Given the description of an element on the screen output the (x, y) to click on. 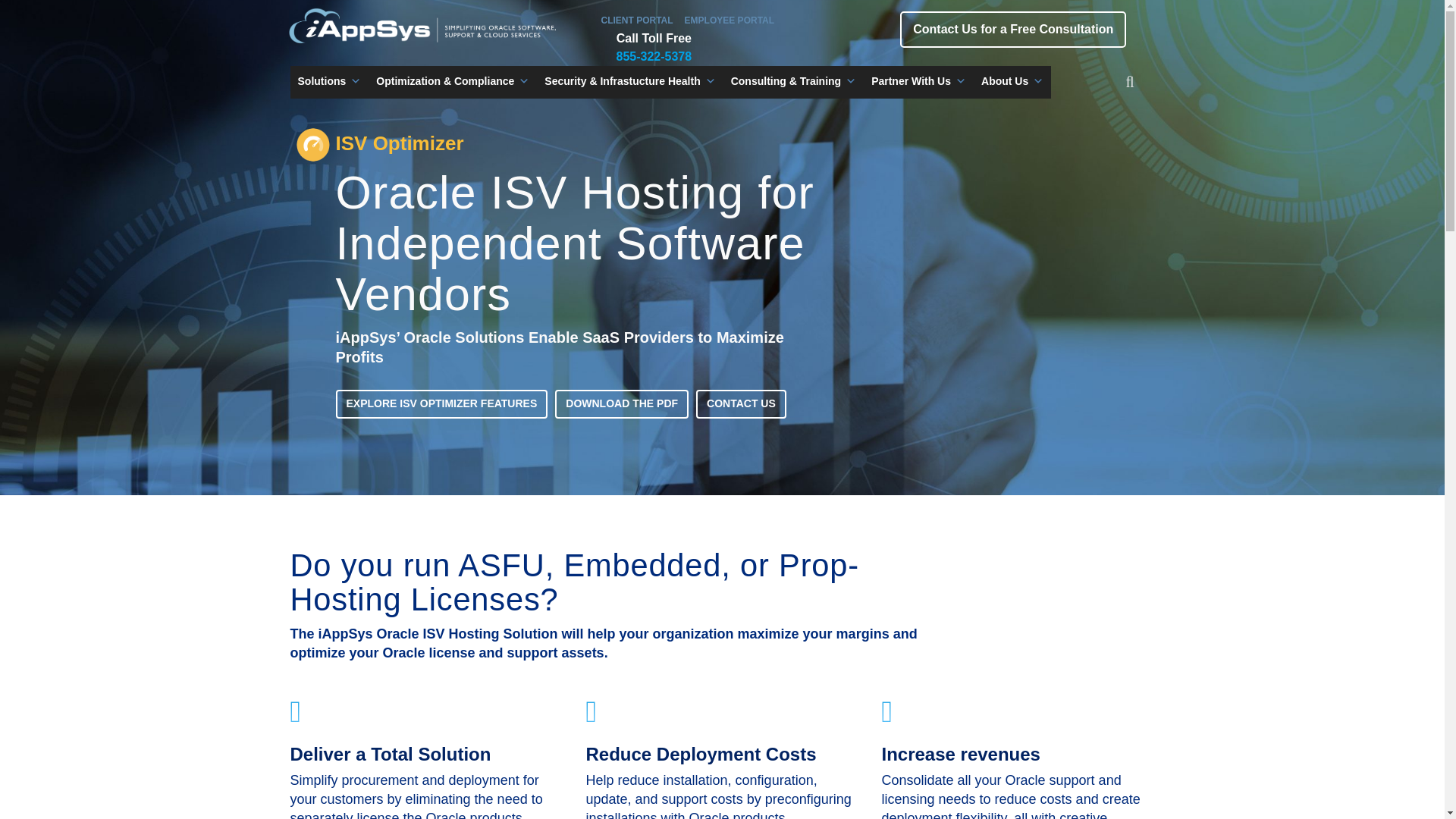
Partner With Us (918, 81)
EXPLORE ISV OPTIMIZER FEATURES (440, 403)
DOWNLOAD THE PDF (621, 403)
Solutions (328, 81)
DOWNLOAD THE PDF (621, 403)
About Us (1012, 81)
CONTACT US (740, 403)
Call Toll Free (645, 47)
EXPLORE ISV OPTIMIZER FEATURES (440, 403)
CLIENT PORTAL (635, 20)
